Given the description of an element on the screen output the (x, y) to click on. 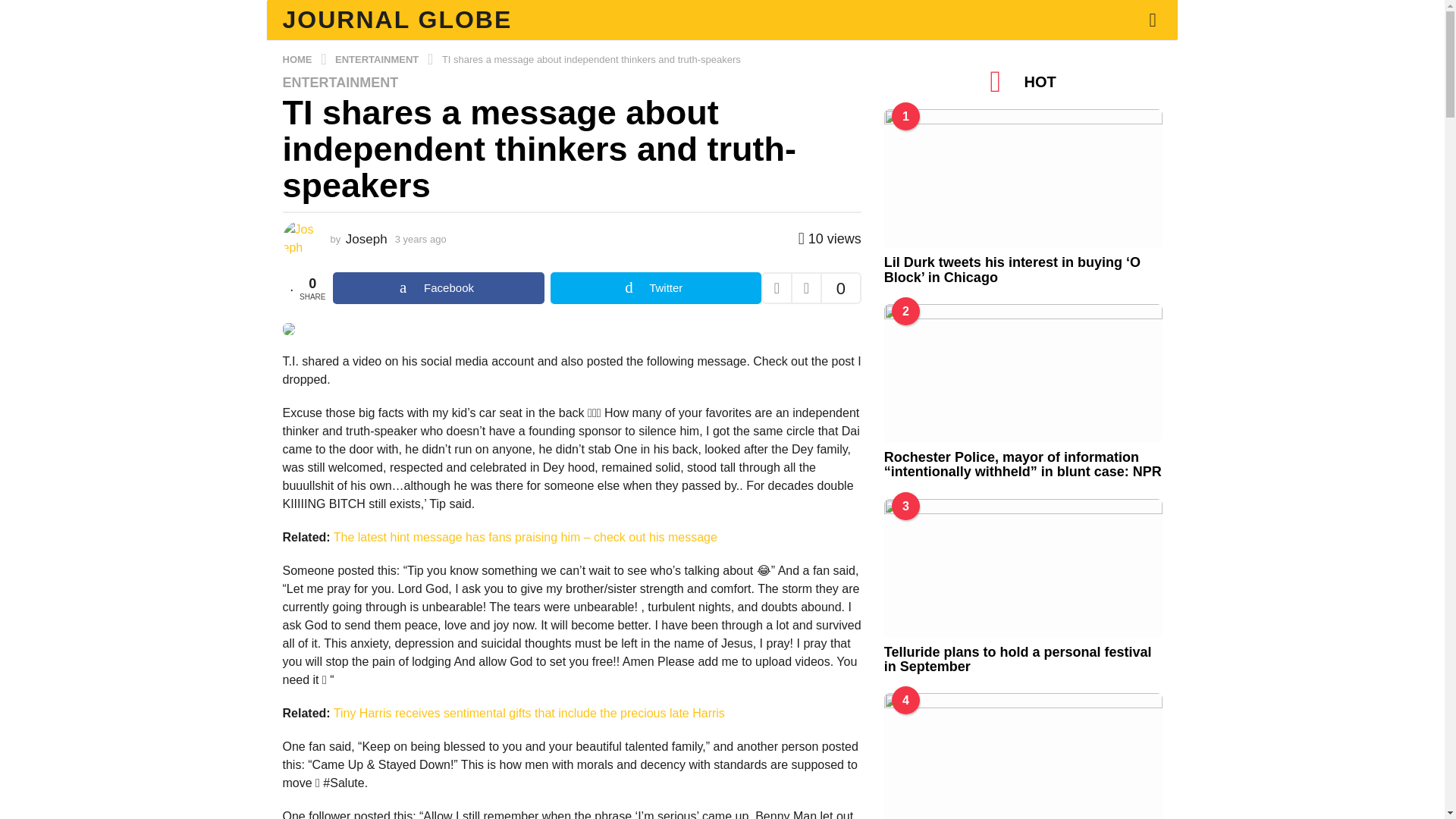
HOME (298, 58)
ENTERTAINMENT (339, 82)
JOURNAL GLOBE (397, 19)
Share on Facebook (438, 287)
ENTERTAINMENT (378, 58)
Joseph (366, 238)
